Given the description of an element on the screen output the (x, y) to click on. 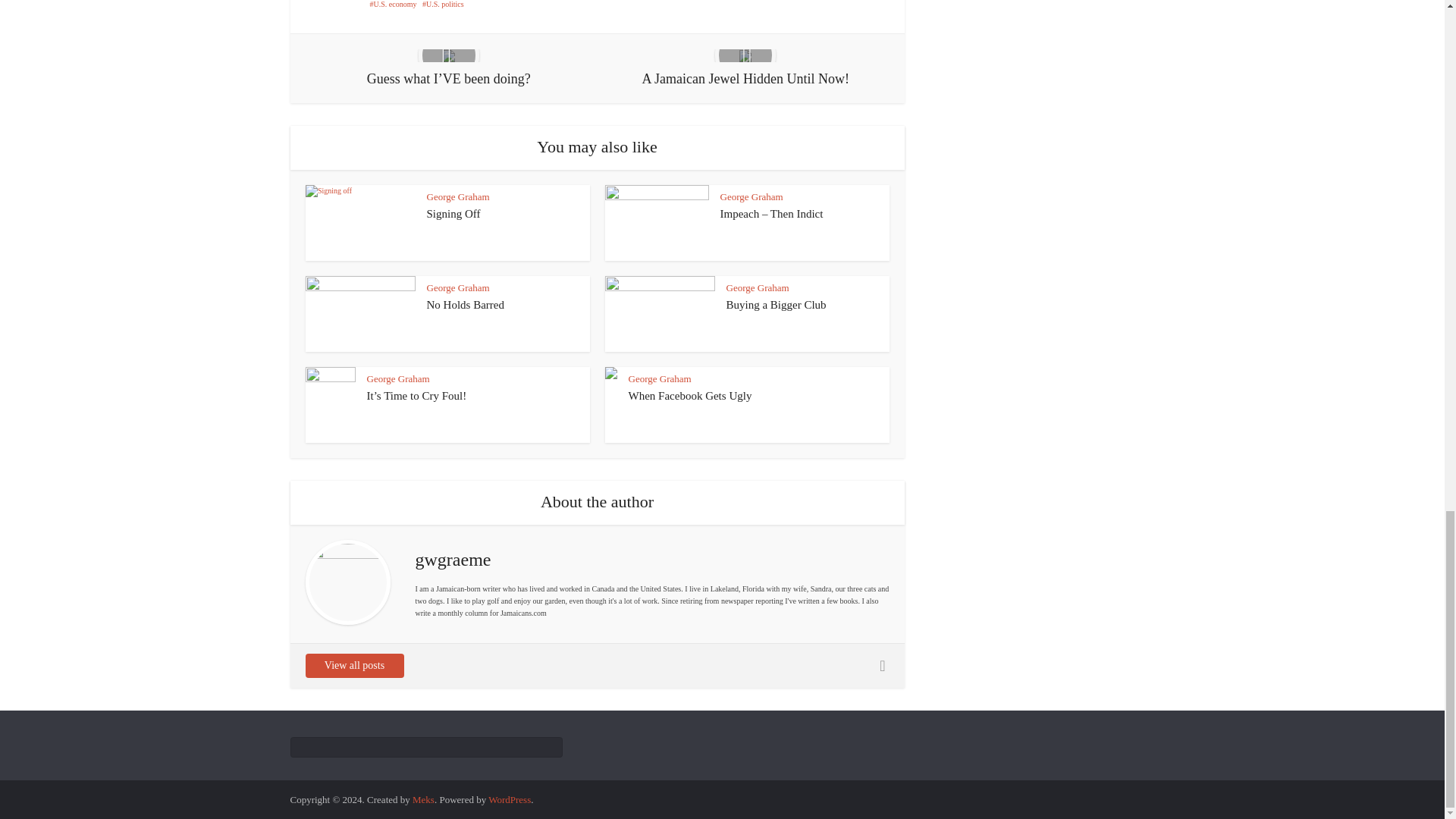
Buying a Bigger Club (776, 304)
George Graham (751, 196)
U.S. politics (443, 4)
U.S. economy (392, 4)
No Holds Barred (464, 304)
George Graham (457, 196)
When Facebook Gets Ugly (689, 395)
No Holds Barred (464, 304)
George Graham (757, 287)
Signing Off (453, 214)
George Graham (457, 287)
Signing Off (453, 214)
A Jamaican Jewel Hidden Until Now! (745, 68)
